Given the description of an element on the screen output the (x, y) to click on. 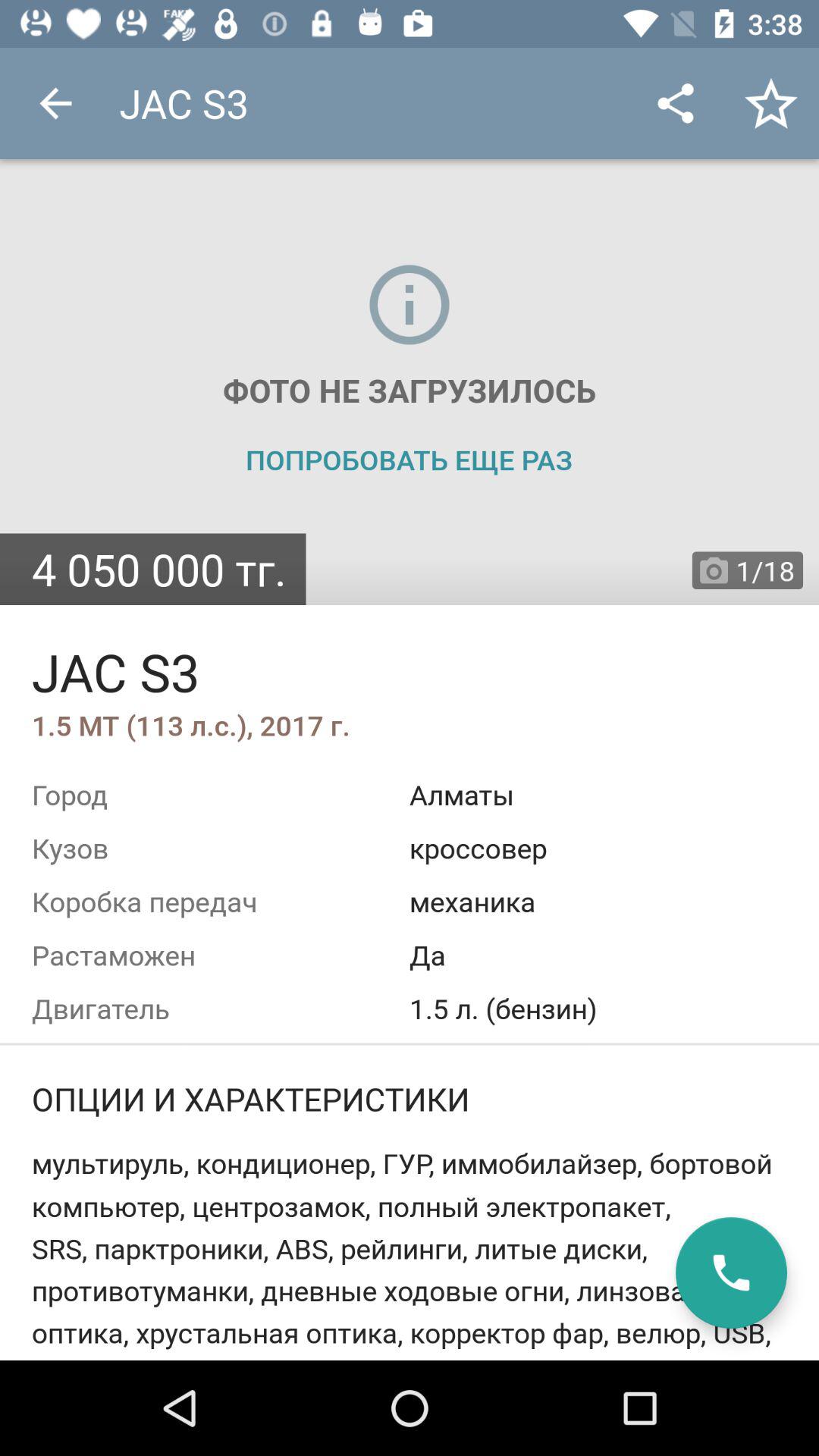
choose the item next to jac s3 app (55, 103)
